Given the description of an element on the screen output the (x, y) to click on. 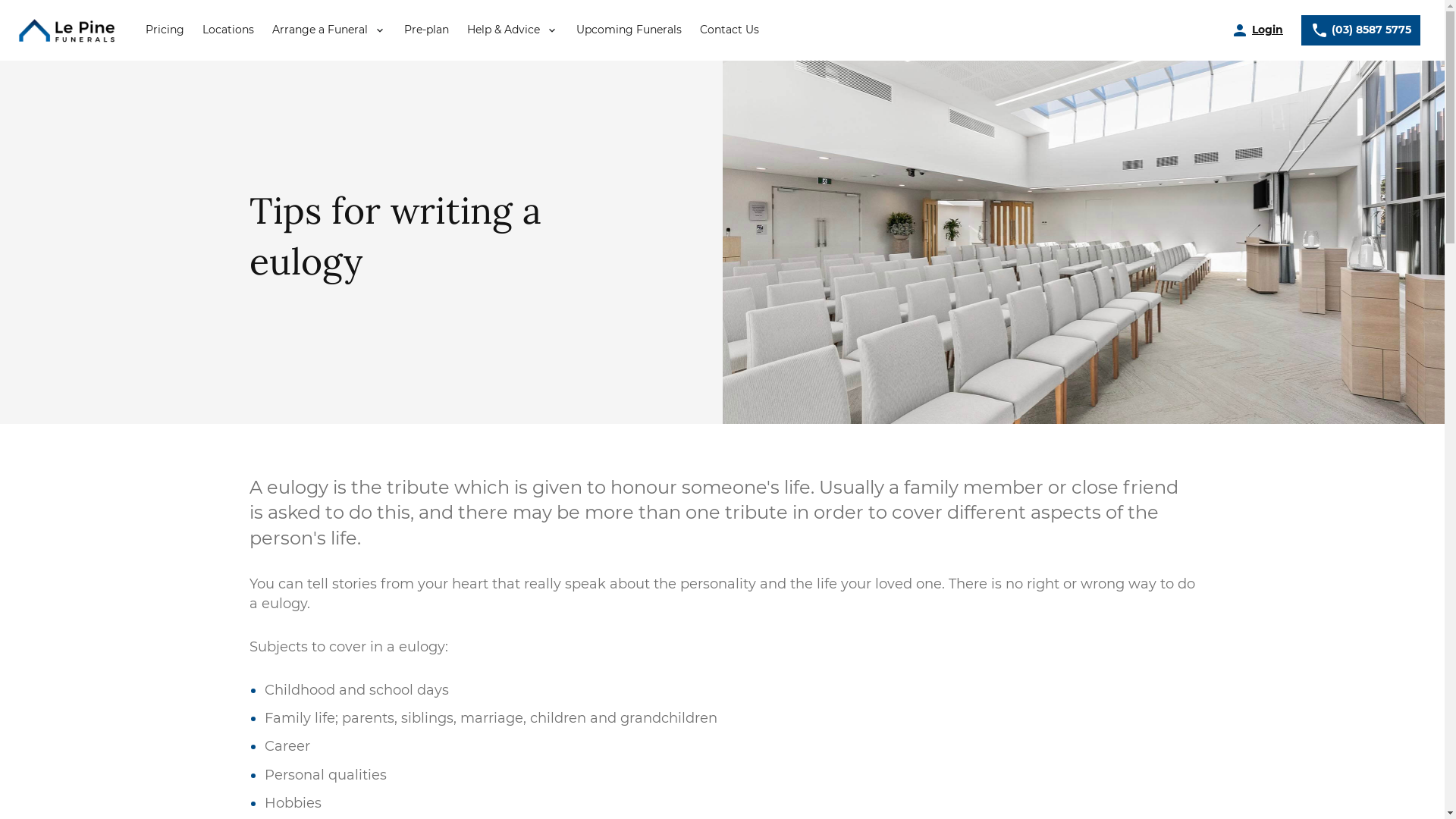
Return to le-pine home page Element type: hover (66, 30)
Arrange a Funeral Element type: text (328, 29)
Help & Advice Element type: text (512, 29)
Locations Element type: text (228, 29)
Pricing Element type: text (164, 29)
(03) 8587 5775 Element type: text (1360, 30)
Upcoming Funerals Element type: text (628, 29)
Pre-plan Element type: text (426, 29)
Contact Us Element type: text (729, 29)
Login Element type: text (1256, 30)
